Given the description of an element on the screen output the (x, y) to click on. 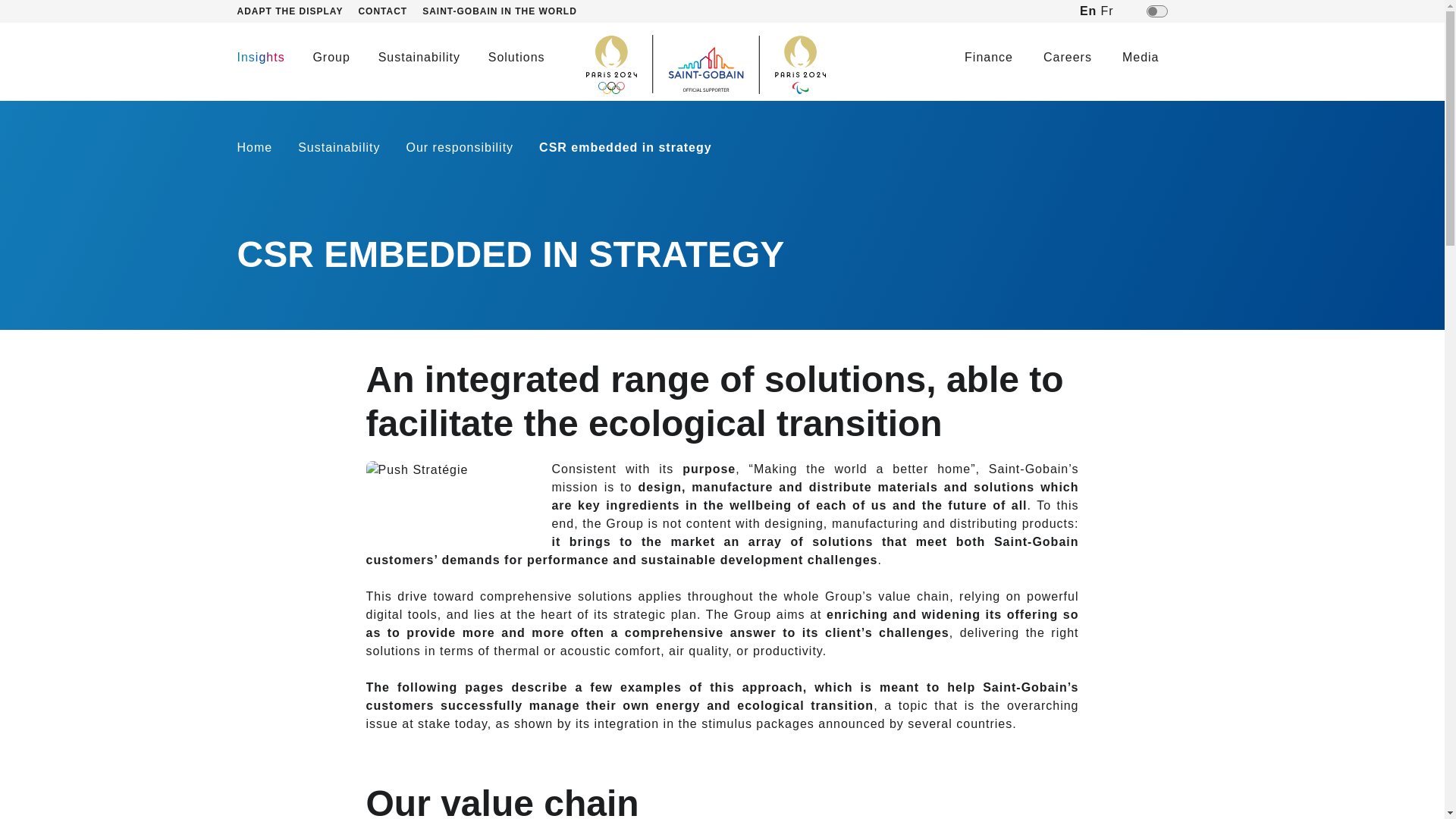
Adapt the display (296, 11)
SAINT-GOBAIN IN THE WORLD (507, 11)
Fr (1106, 10)
Group (331, 57)
English (1088, 10)
Insights (259, 57)
Group (331, 57)
Sustainability (419, 57)
CONTACT (390, 11)
ADAPT THE DISPLAY (296, 11)
Insights (259, 57)
En (1090, 10)
